Given the description of an element on the screen output the (x, y) to click on. 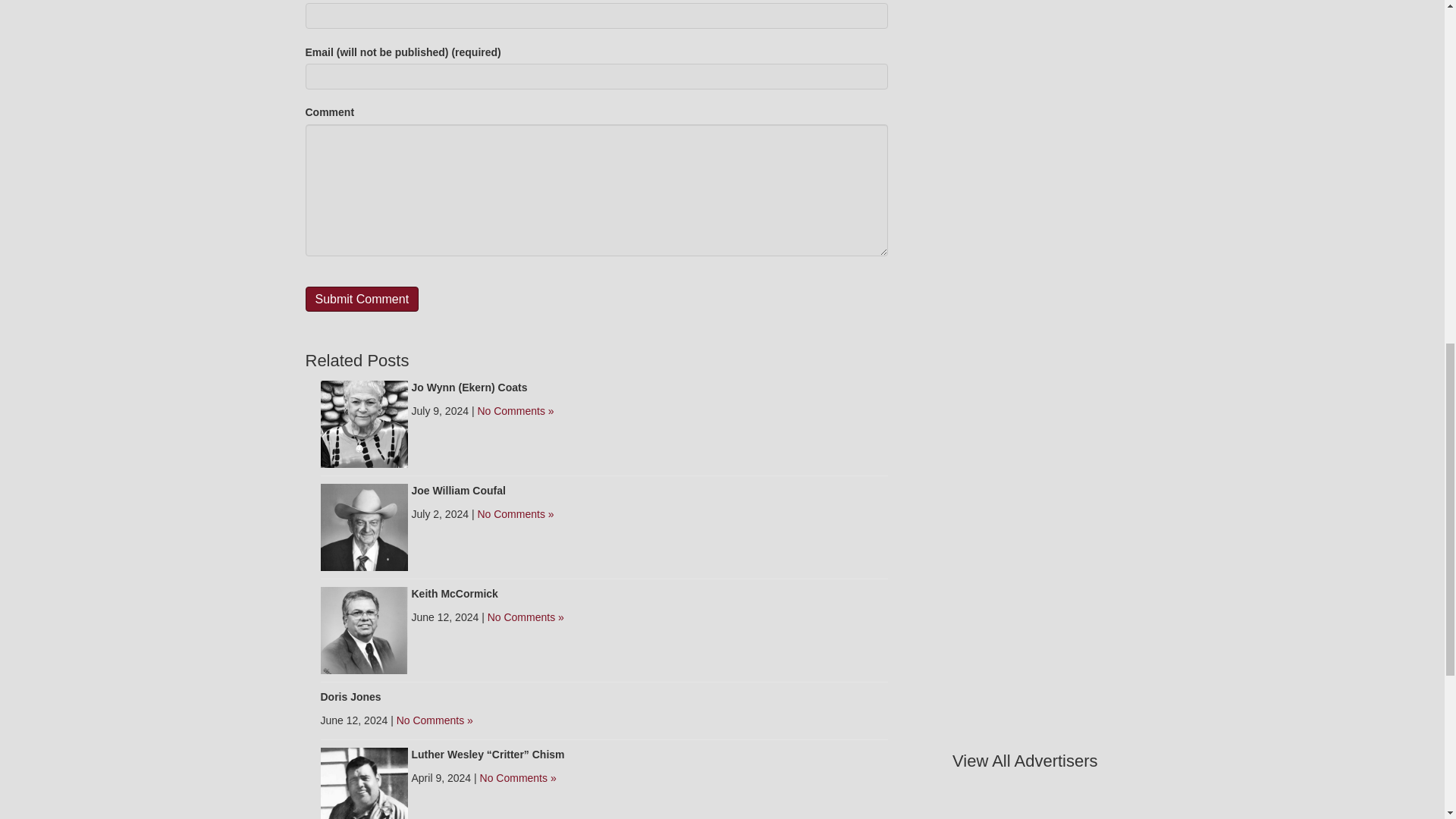
Joe William Coufal (457, 490)
Doris Jones (350, 696)
Submit Comment (361, 299)
Keith McCormick (363, 629)
Submit Comment (361, 299)
Joe William Coufal (363, 526)
Joe William Coufal (457, 490)
Keith McCormick (453, 593)
